Given the description of an element on the screen output the (x, y) to click on. 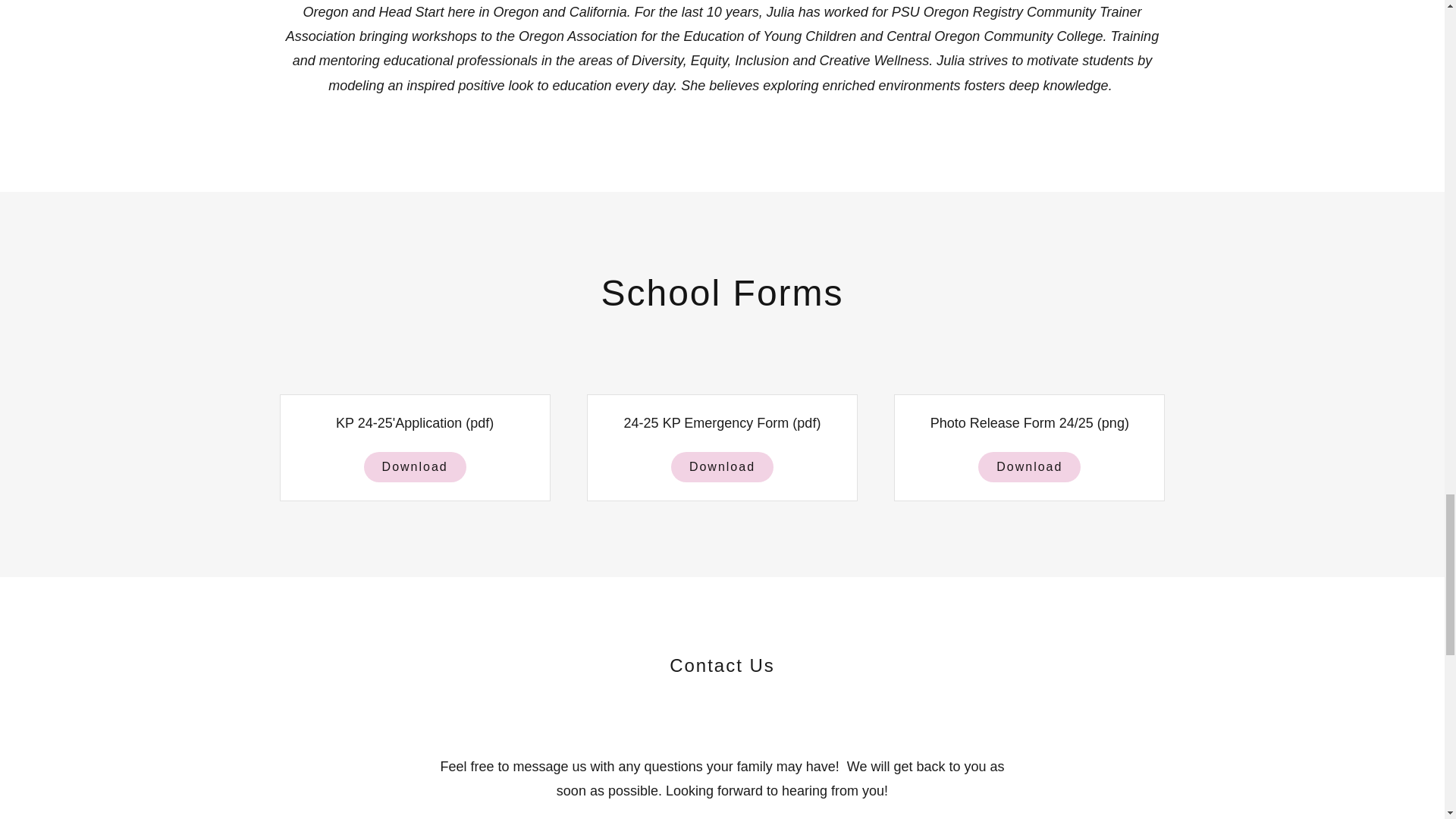
Download (1029, 467)
Download (722, 467)
Download (414, 467)
